Given the description of an element on the screen output the (x, y) to click on. 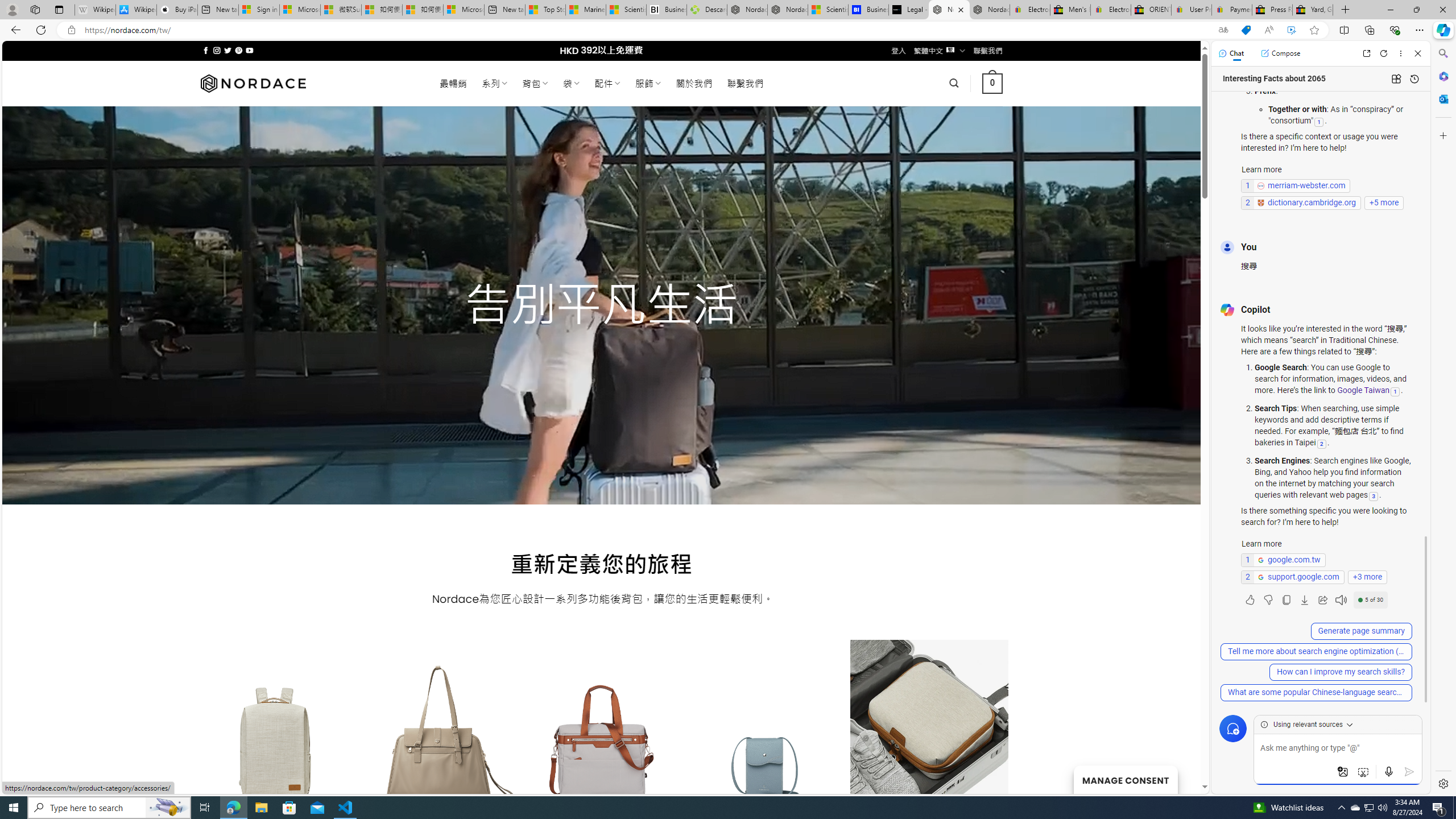
Minimize Search pane (1442, 53)
Show translate options (1222, 29)
Enhance video (1291, 29)
Follow on Facebook (205, 50)
